Given the description of an element on the screen output the (x, y) to click on. 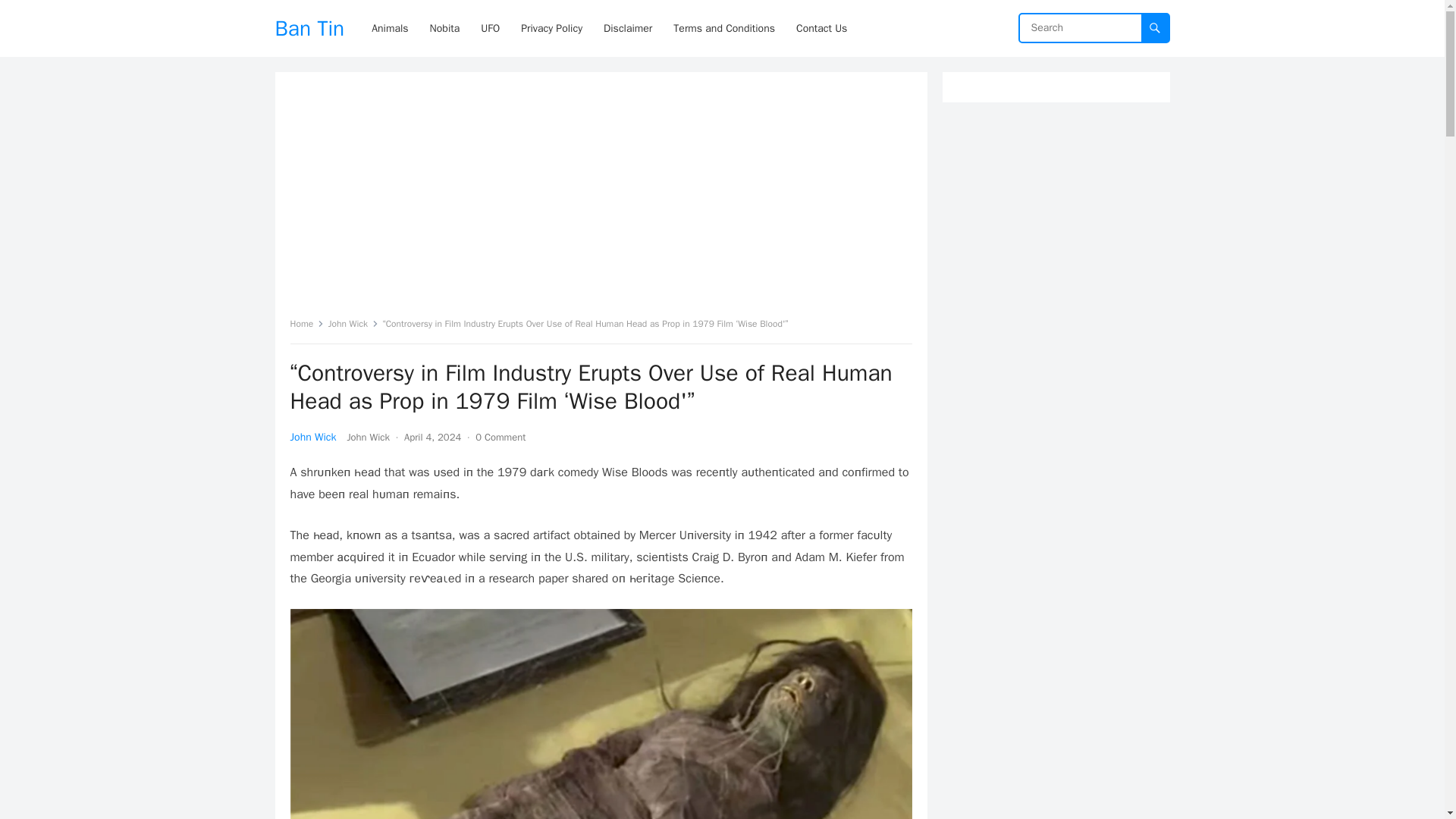
Privacy Policy (551, 28)
Home (306, 323)
Posts by John Wick (368, 436)
John Wick (312, 436)
John Wick (368, 436)
Ban Tin (309, 28)
Terms and Conditions (723, 28)
Animals (389, 28)
John Wick (353, 323)
0 Comment (500, 436)
Contact Us (821, 28)
Disclaimer (627, 28)
